Given the description of an element on the screen output the (x, y) to click on. 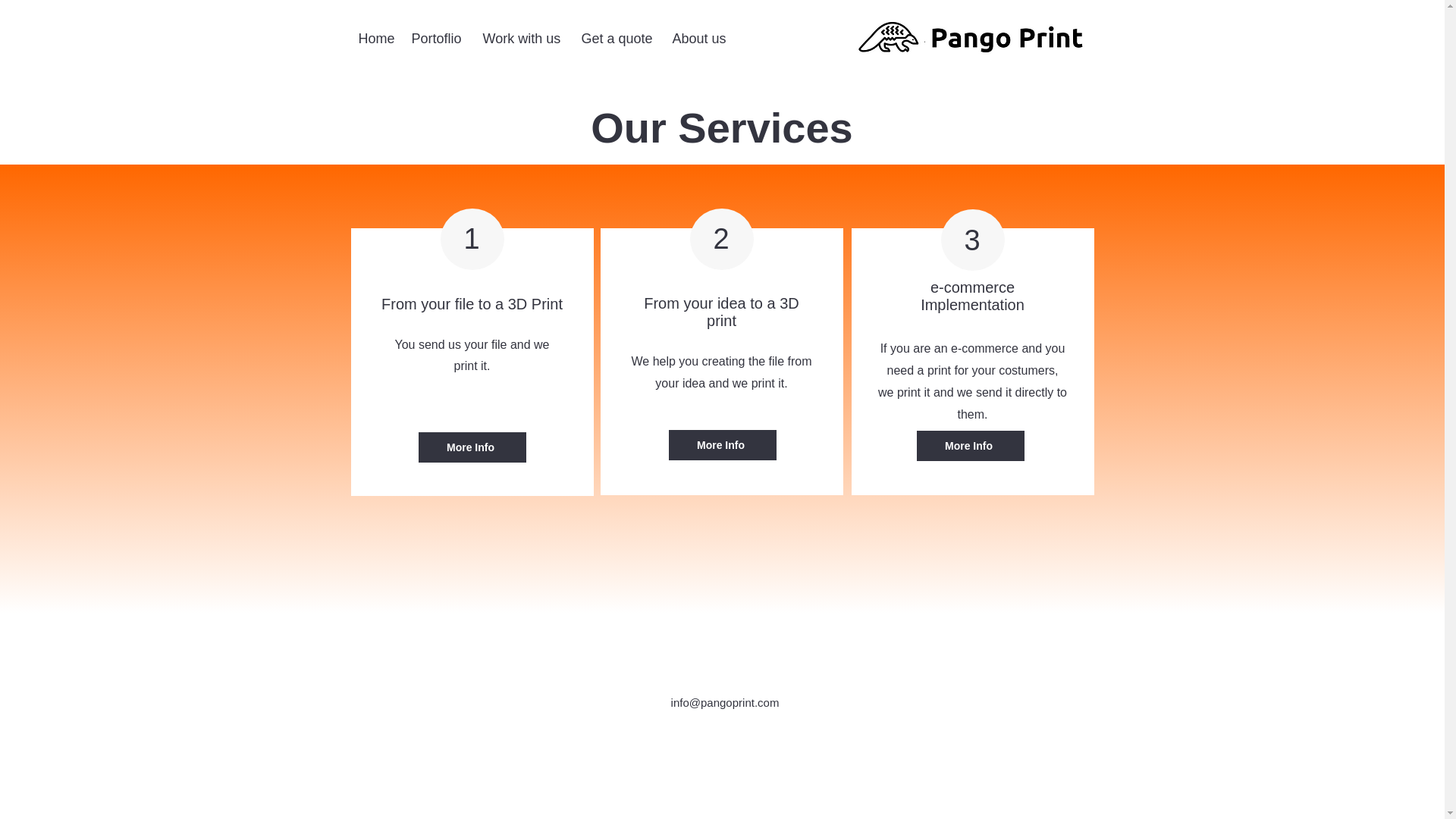
Portoflio (438, 38)
About us (699, 38)
More Info (969, 445)
Get a quote (618, 38)
More Info (472, 447)
Work with us (523, 38)
More Info (722, 444)
